Given the description of an element on the screen output the (x, y) to click on. 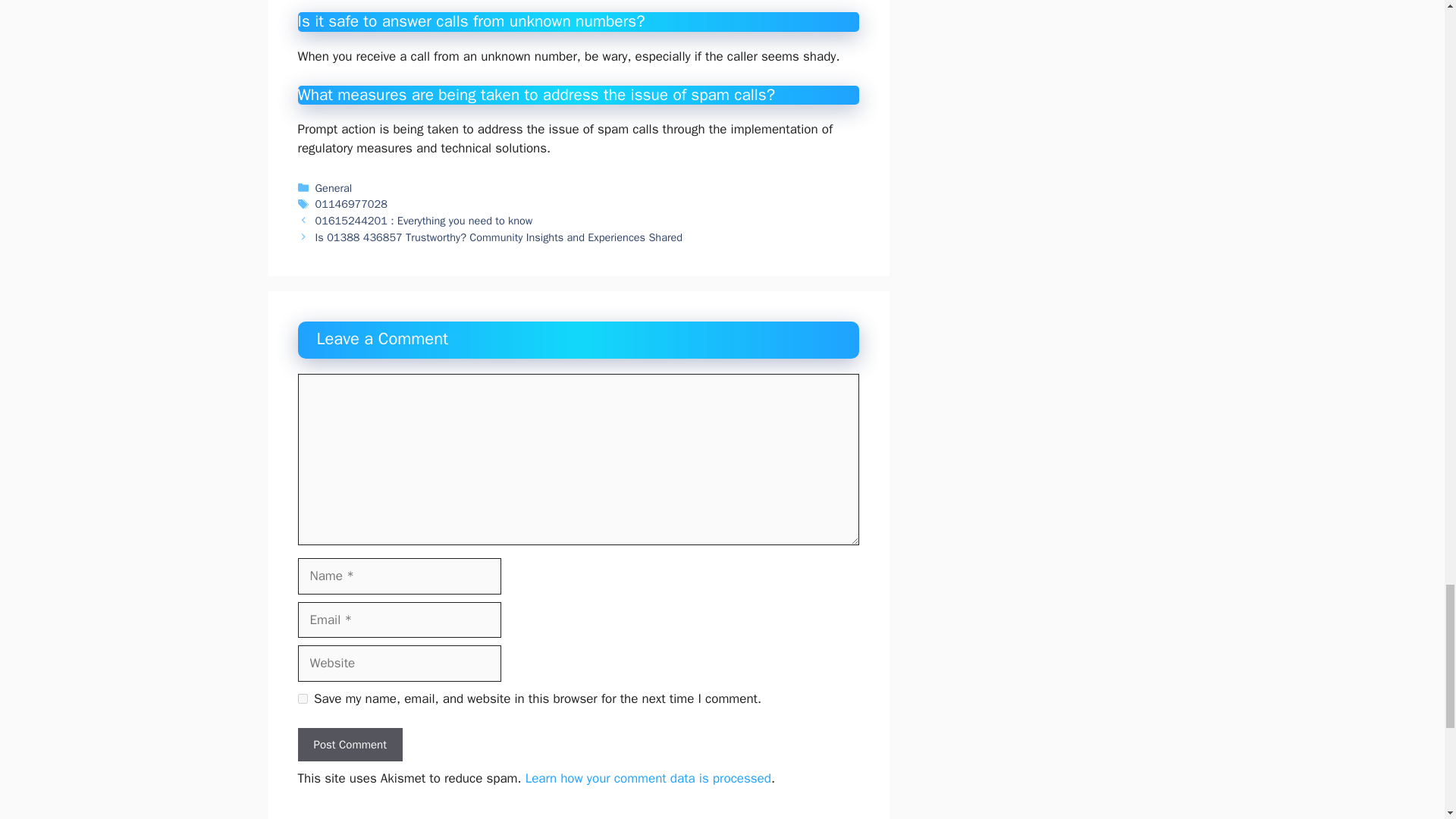
Post Comment (349, 745)
01615244201 : Everything you need to know (423, 220)
yes (302, 698)
Post Comment (349, 745)
01146977028 (351, 203)
Learn how your comment data is processed (648, 778)
General (333, 187)
